Given the description of an element on the screen output the (x, y) to click on. 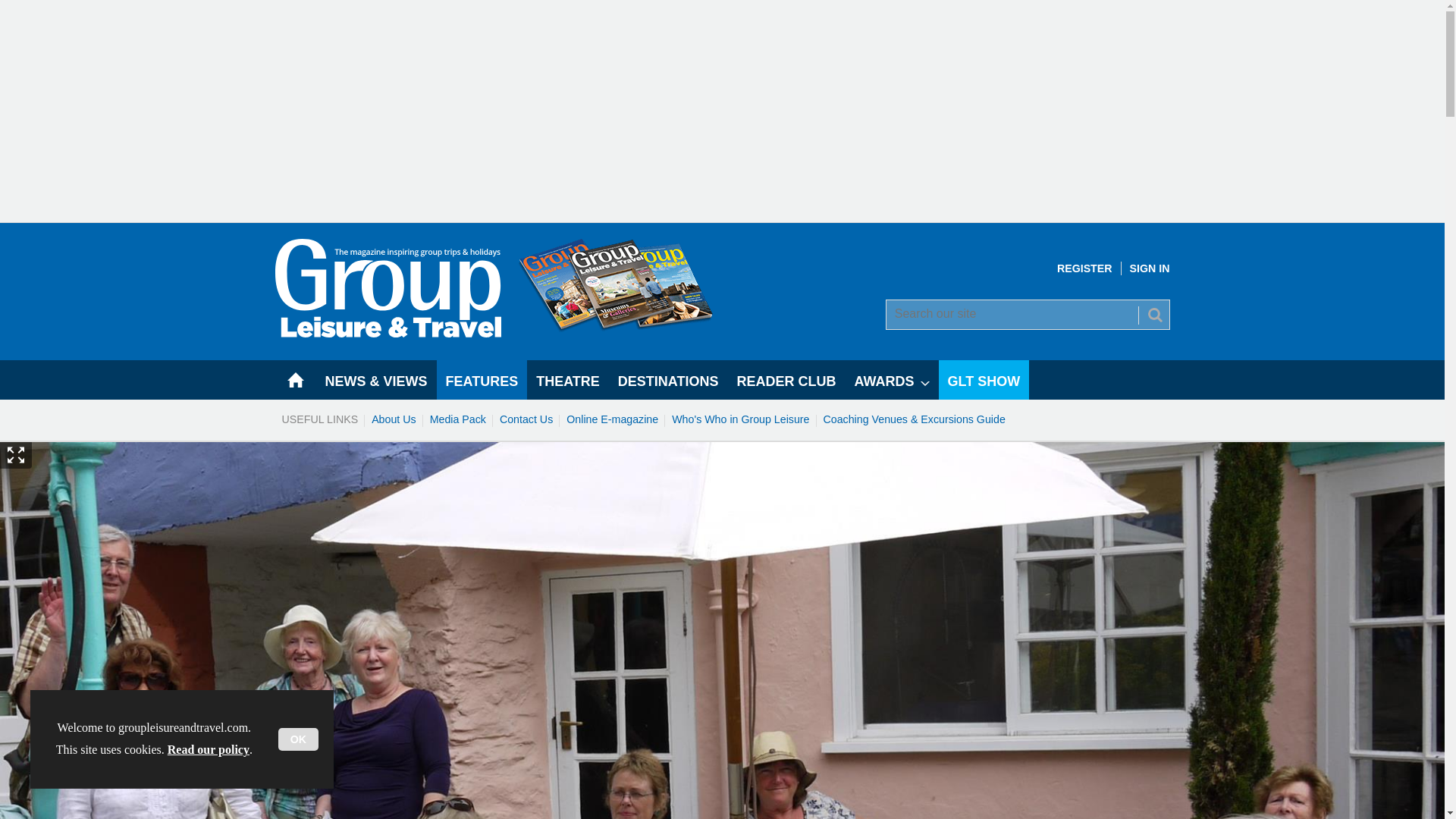
SIGN IN (1149, 268)
SEARCH (1153, 314)
FEATURES (481, 379)
HOME (295, 379)
Online E-magazine (612, 419)
REGISTER (1084, 268)
About Us (394, 419)
Read our policy (207, 748)
THEATRE (567, 379)
OK (298, 739)
Contact Us (526, 419)
Who's Who in Group Leisure (740, 419)
Media Pack (458, 419)
